Given the description of an element on the screen output the (x, y) to click on. 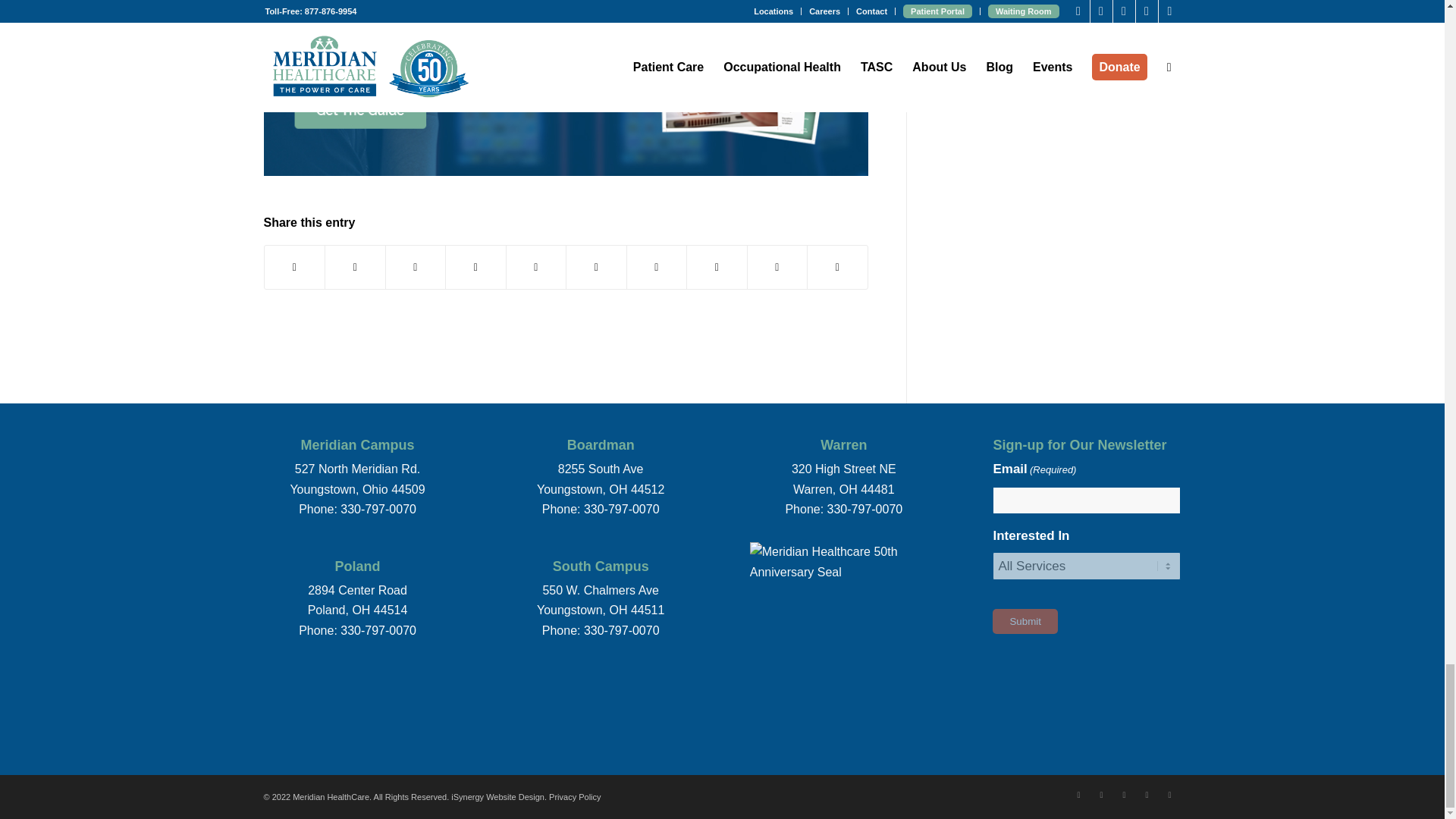
Submit (1024, 621)
